Given the description of an element on the screen output the (x, y) to click on. 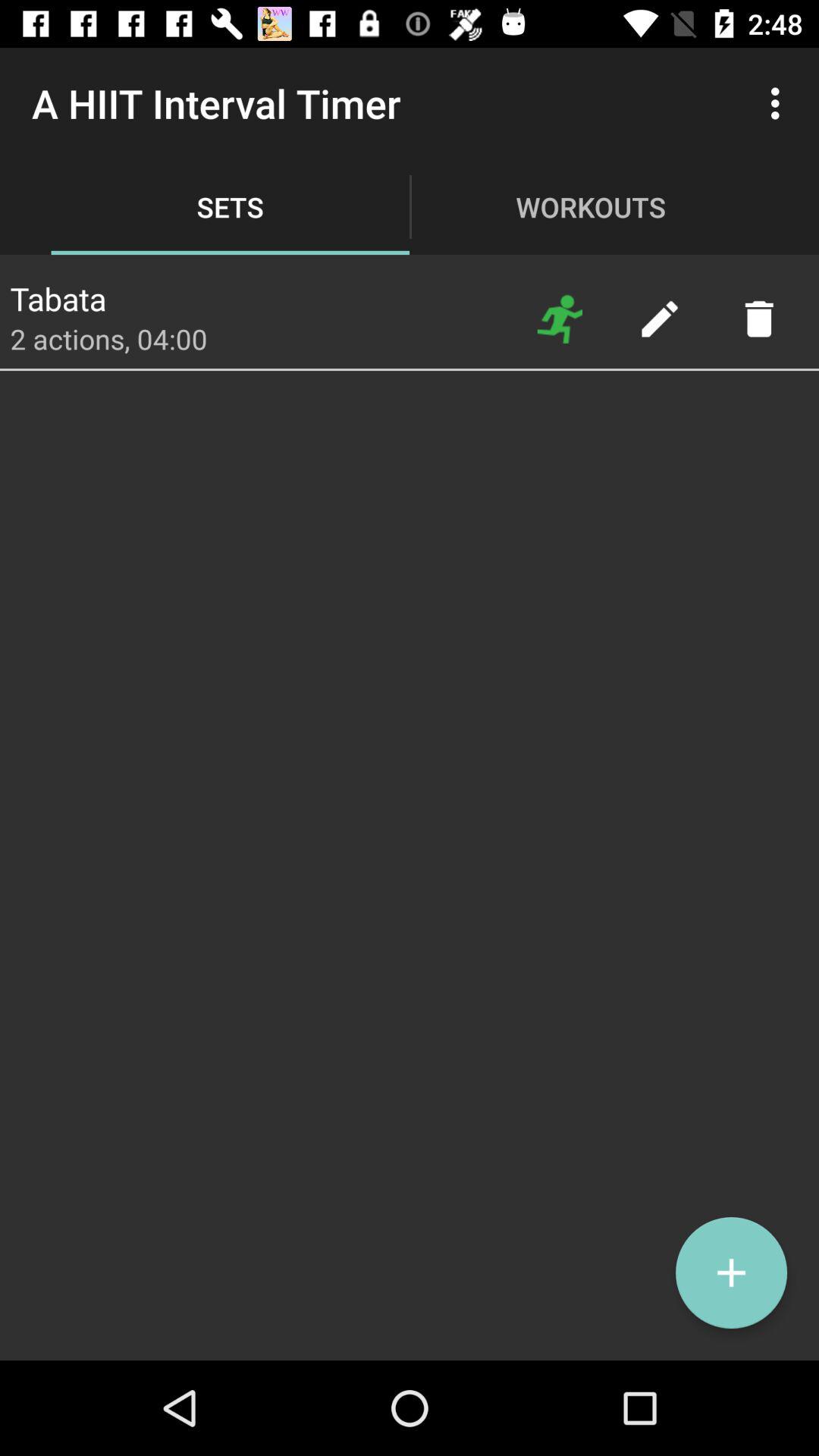
select the icon below the workouts icon (559, 318)
